Given the description of an element on the screen output the (x, y) to click on. 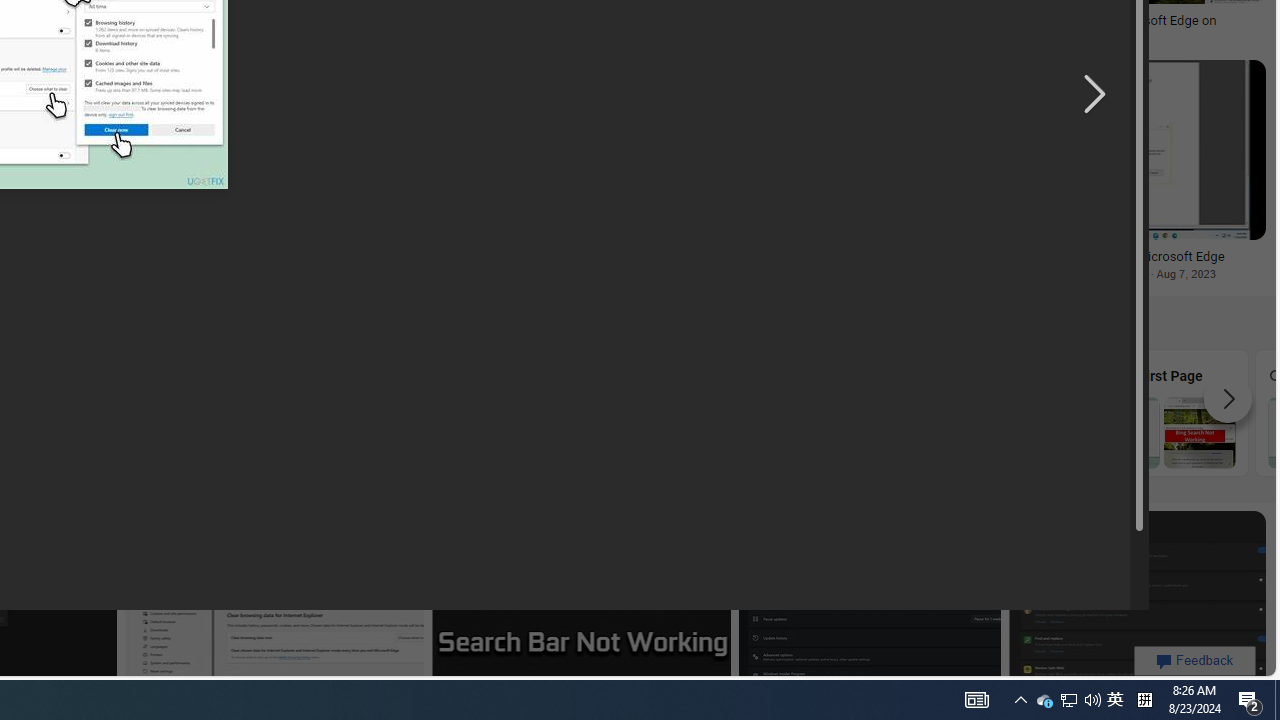
Bing Video Search Not Working Video (262, 412)
Image result for Bing Search Not Working (1136, 600)
Bing Work Search Not Working Work (981, 412)
5:17 (464, 528)
2:29 (985, 78)
Why First Page of Bing Search Not Working Why First Page (1162, 412)
Fix Bing search not working in Microsoft Edge (1109, 255)
Bing searches not working? : r/bing (118, 21)
Image result for Bing Search Not Working (1136, 600)
Bar (621, 412)
Fix Bing search not working in Microsoft Edge (1109, 255)
Bing Exact Search Not Working (441, 432)
